Given the description of an element on the screen output the (x, y) to click on. 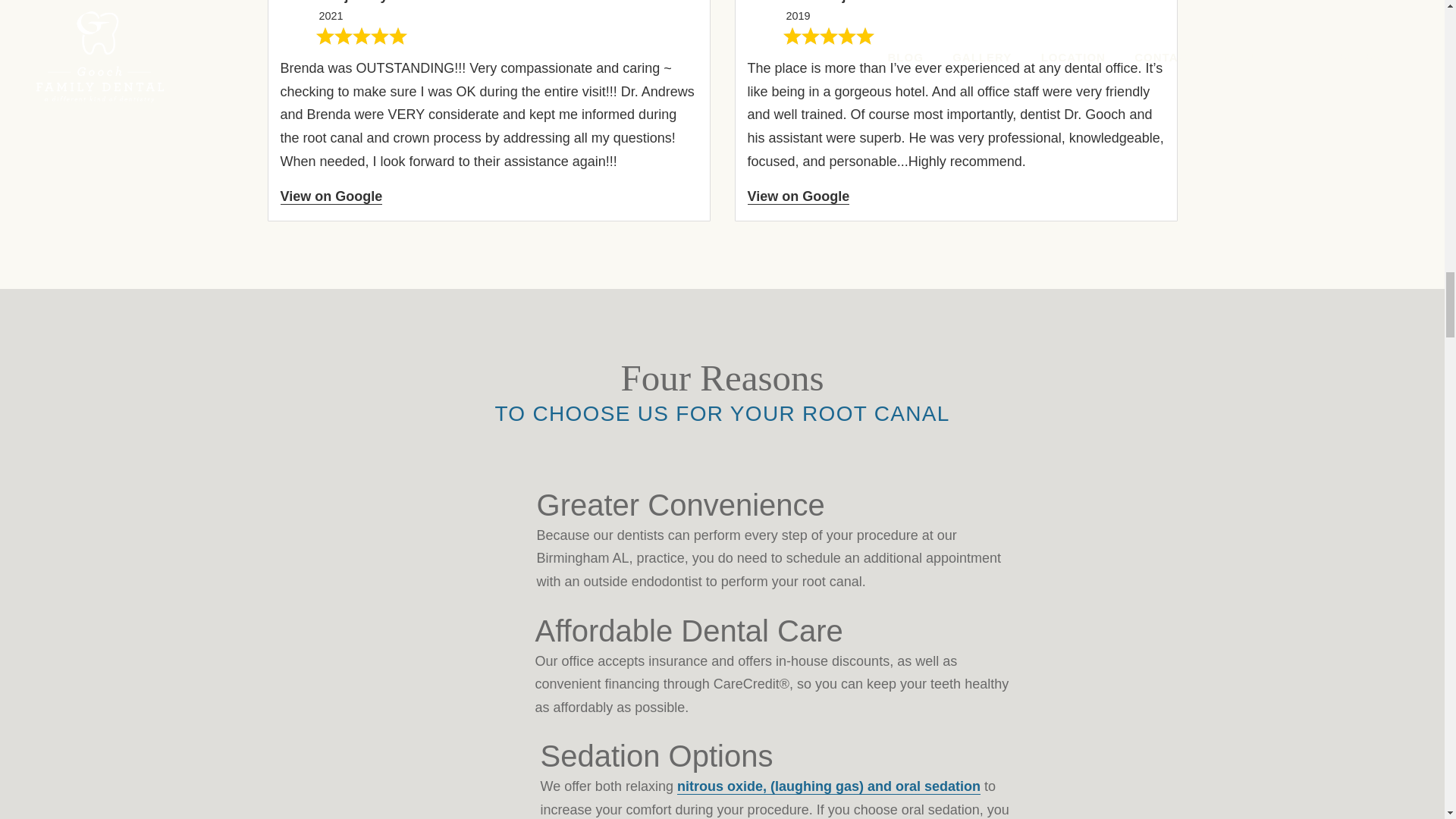
View on Google (331, 196)
View on Google (799, 196)
